Given the description of an element on the screen output the (x, y) to click on. 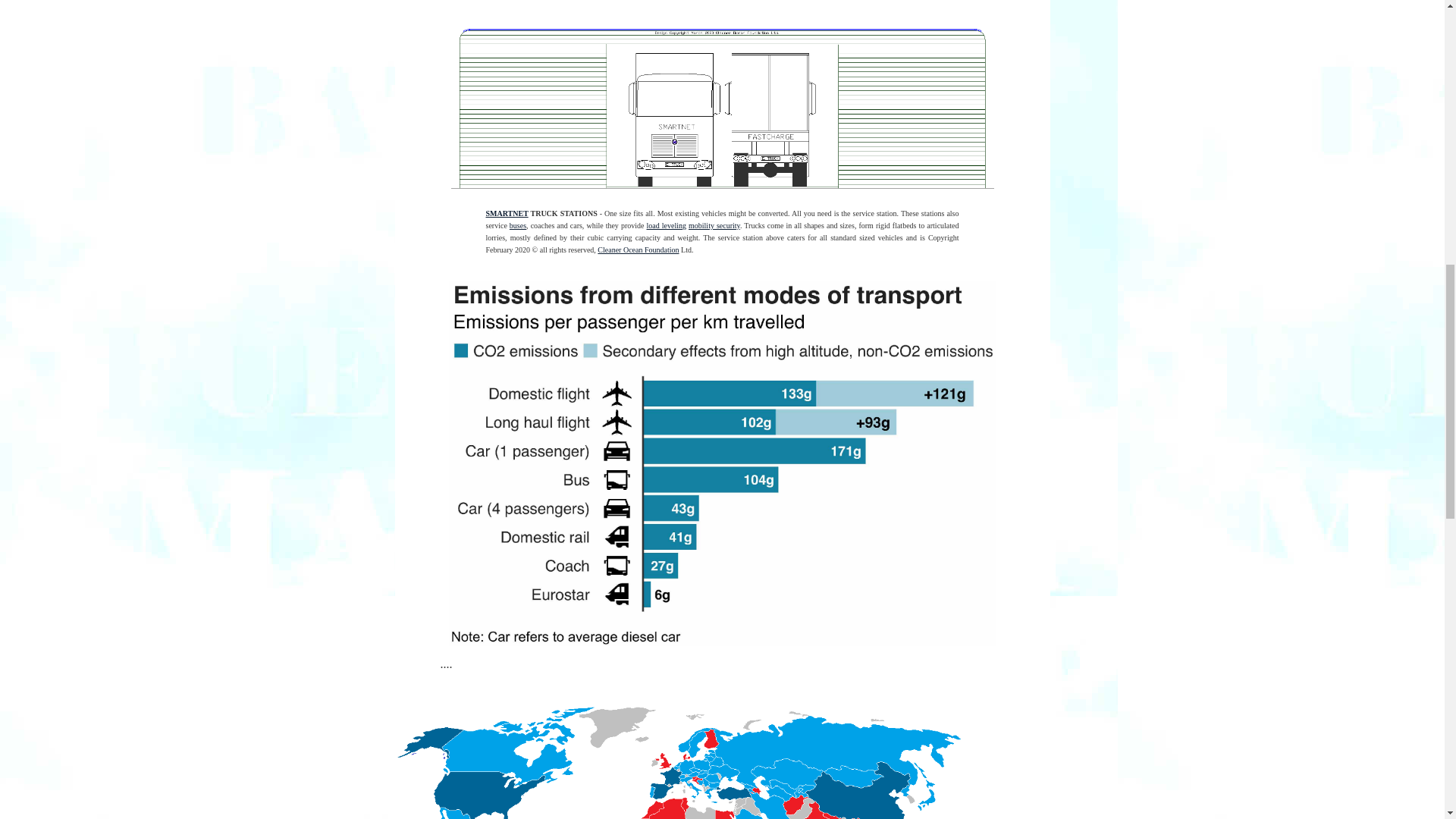
buses (517, 225)
SMARTNET (505, 213)
Cleaner Ocean Foundation (637, 249)
load leveling (665, 225)
mobility security (713, 225)
